Given the description of an element on the screen output the (x, y) to click on. 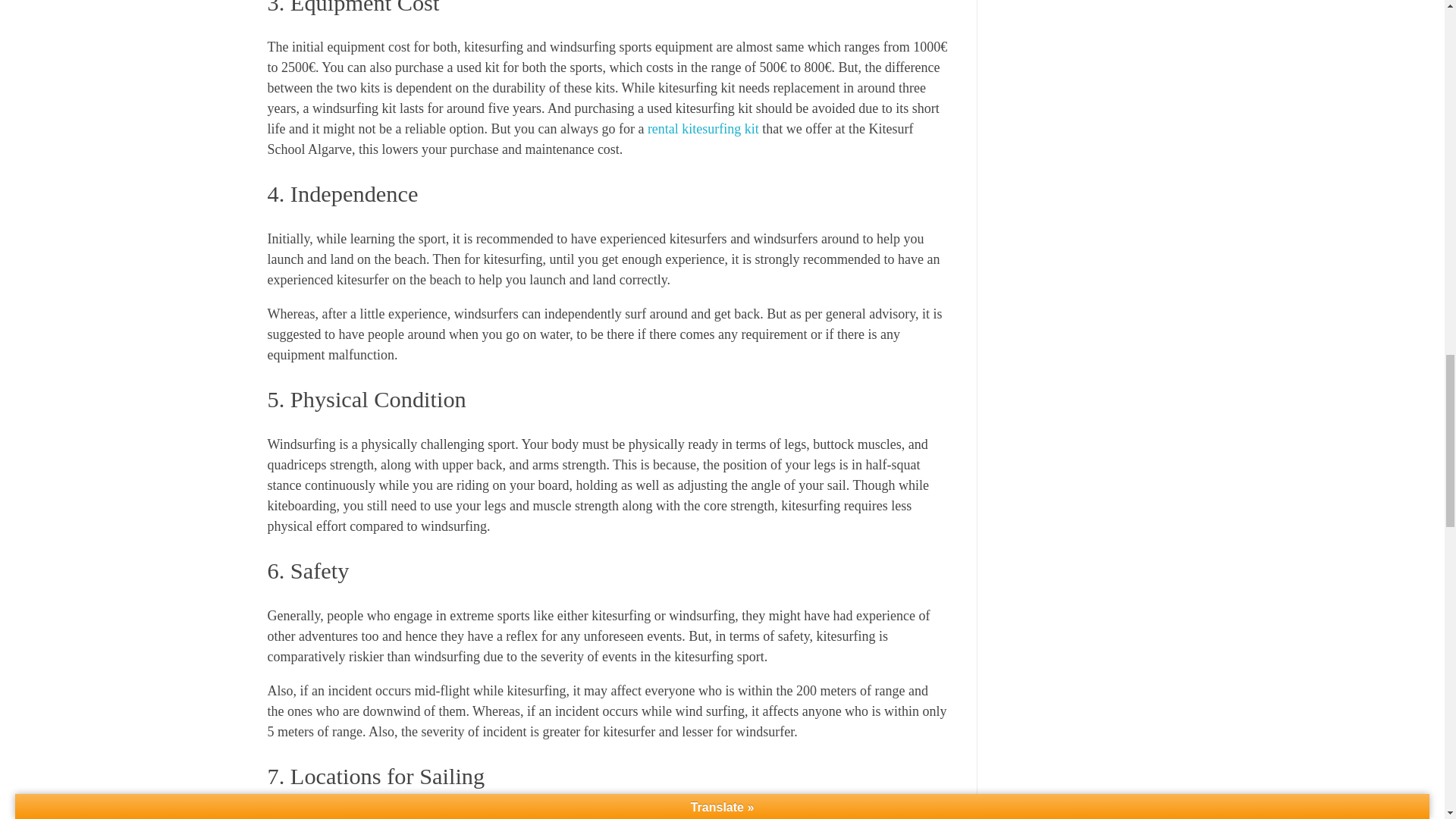
rental kitesurfing kit (702, 128)
